Given the description of an element on the screen output the (x, y) to click on. 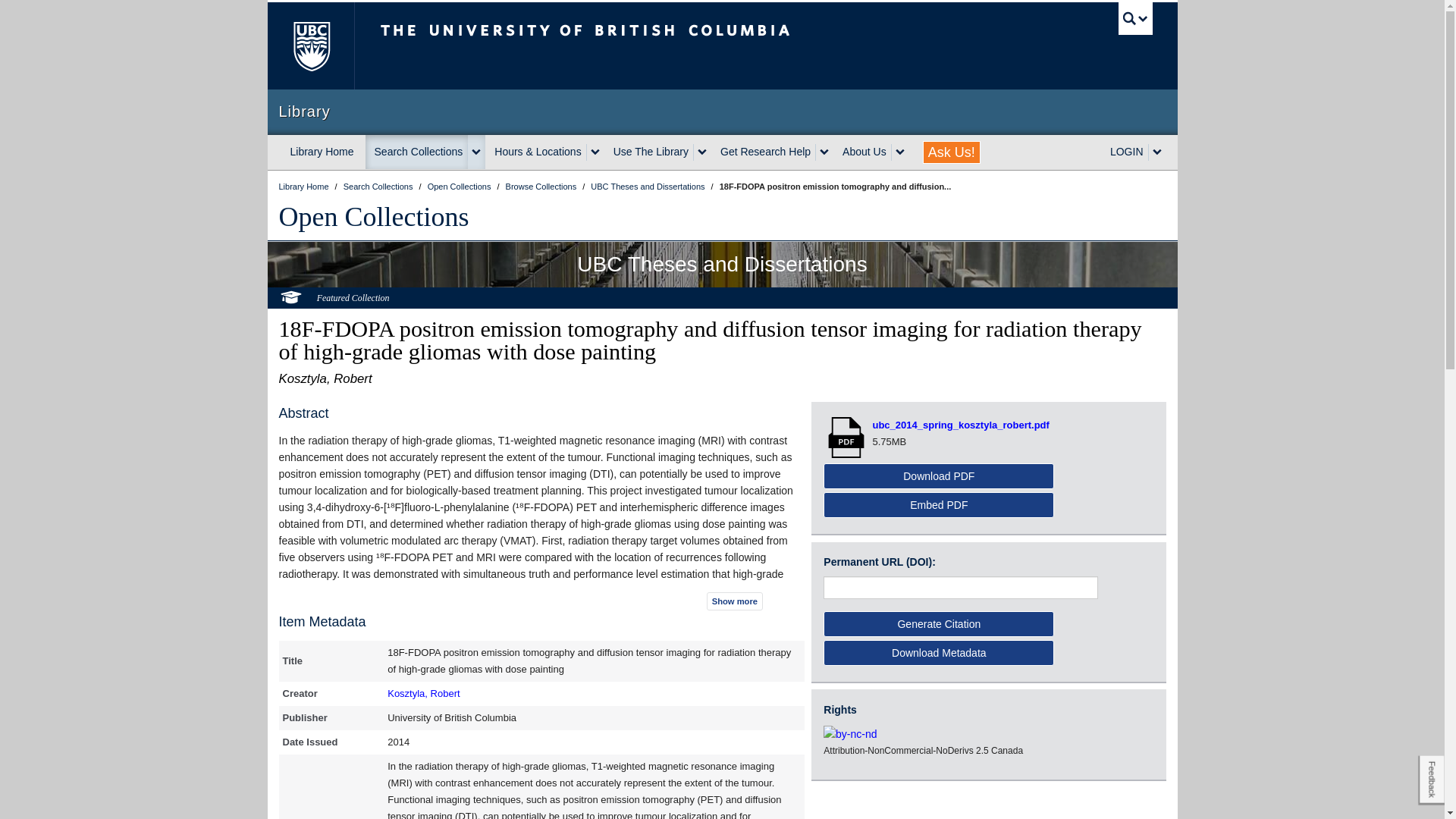
open file (848, 437)
Open Collections (460, 185)
Search Collections (416, 151)
The University of British Columbia (635, 45)
Library (722, 111)
Browse Collections (542, 185)
UBC Search (1135, 18)
Library Home (322, 151)
Search Collections (378, 185)
The University of British Columbia (309, 45)
Open Collections (373, 216)
UBC Library (305, 185)
